Given the description of an element on the screen output the (x, y) to click on. 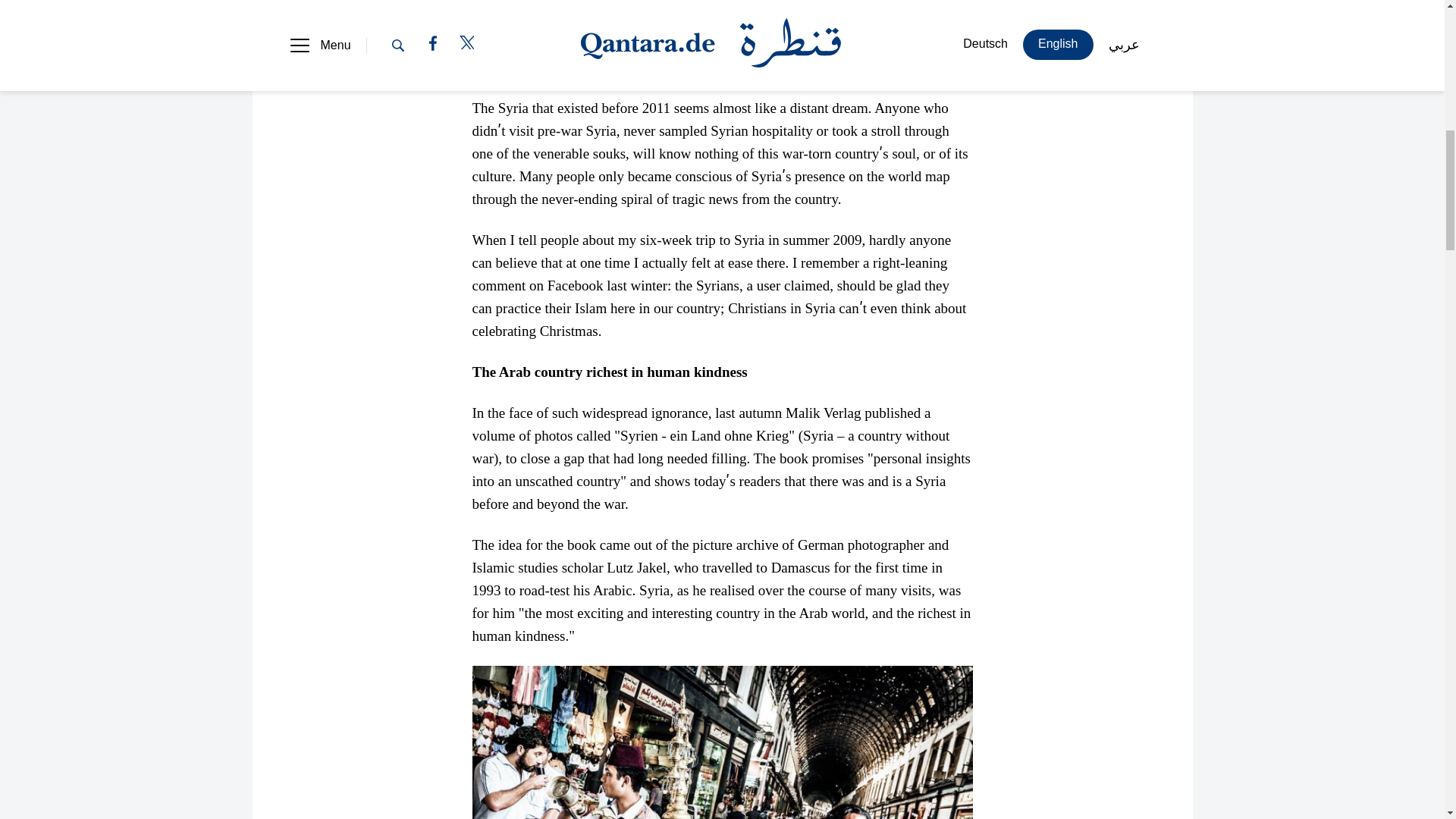
Marian Brehmer (525, 5)
Share (578, 59)
Print (663, 59)
Link (493, 59)
Copy link of content (493, 59)
